Given the description of an element on the screen output the (x, y) to click on. 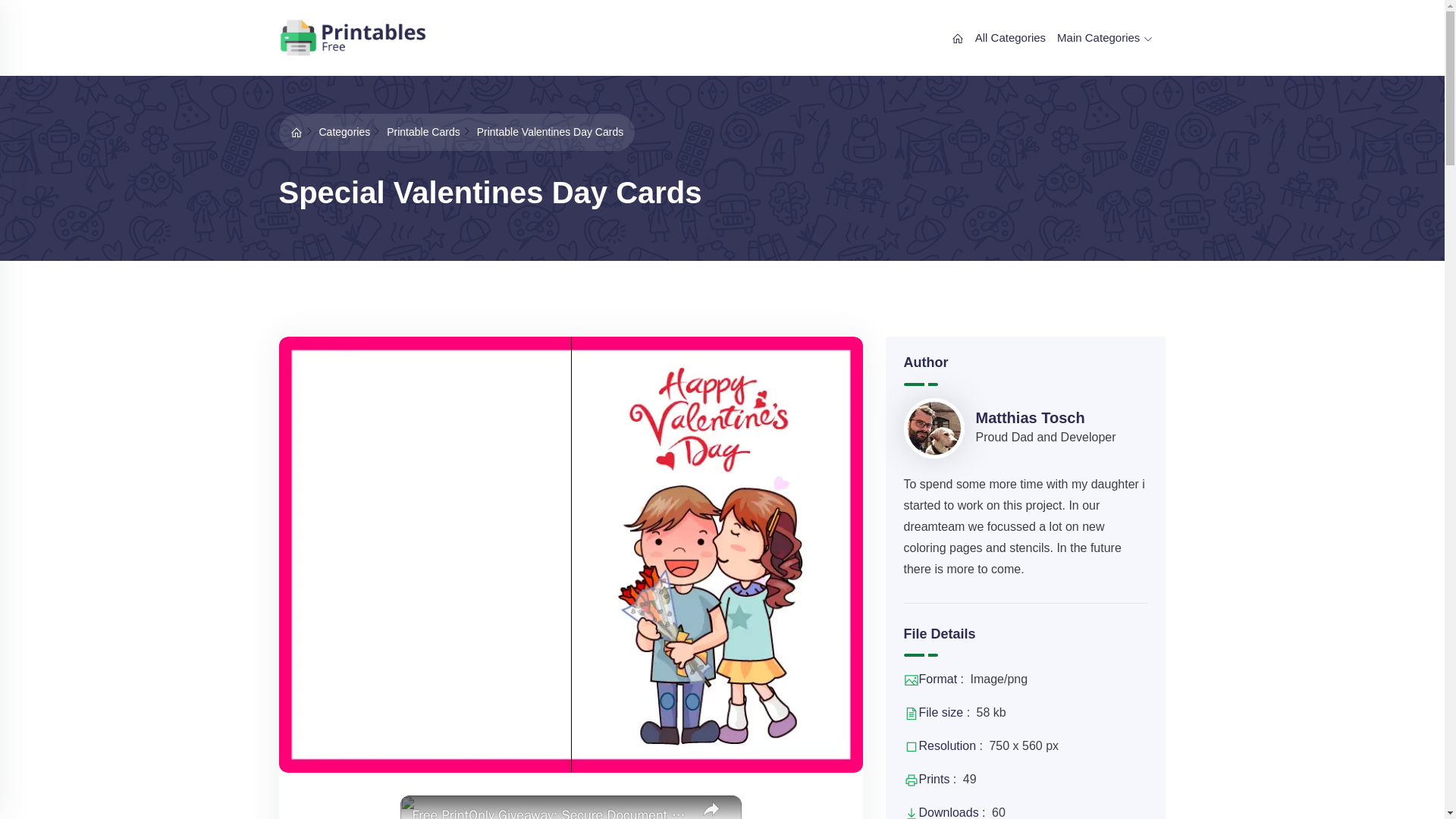
All Categories (1010, 37)
Back to Homepage and our Free Printables (295, 132)
Main Categories (1104, 37)
Printable Cards (423, 132)
Categories (343, 132)
Printable Valentines Day Cards (550, 132)
share (711, 807)
